Given the description of an element on the screen output the (x, y) to click on. 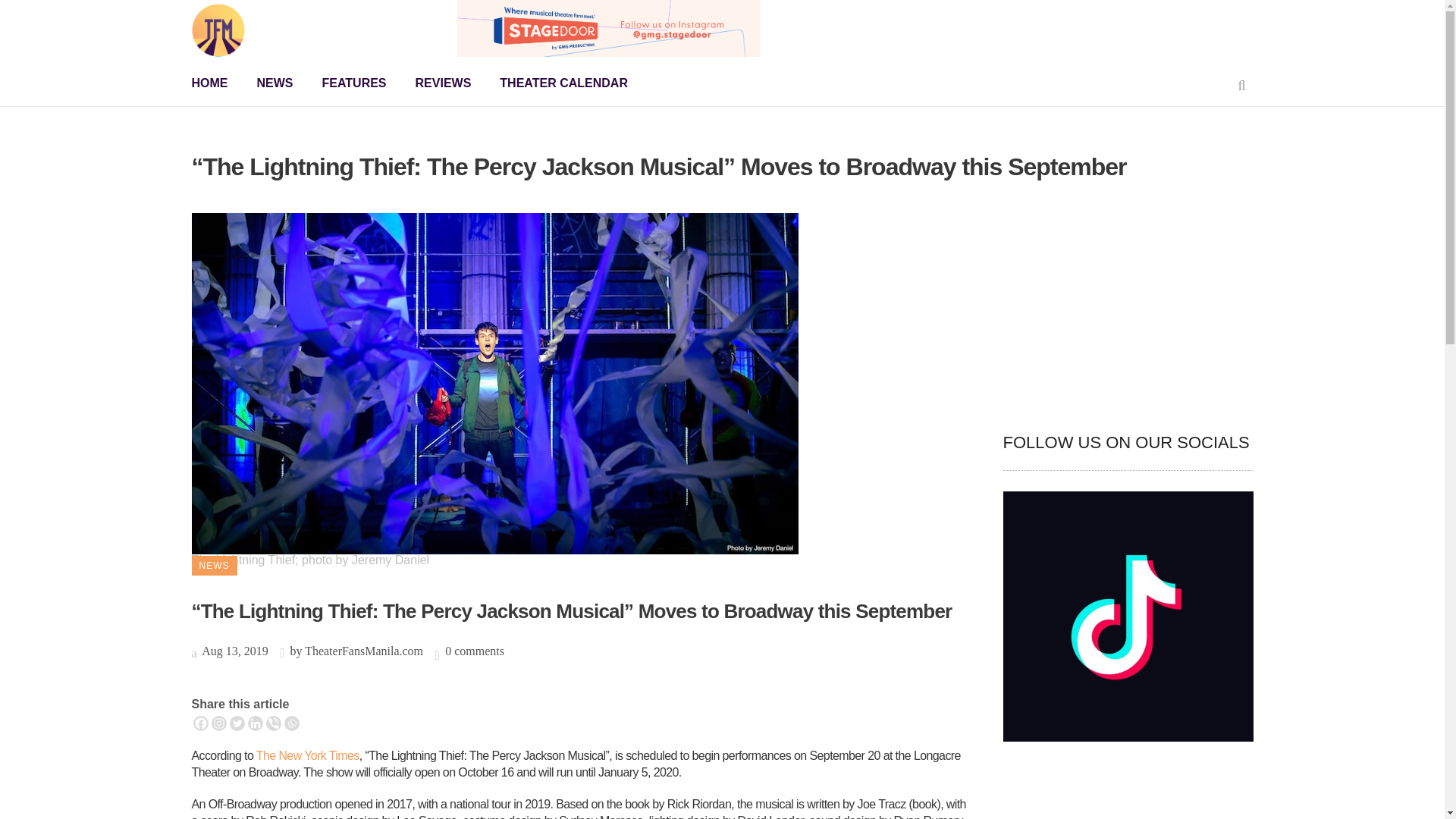
Facebook (200, 723)
The New York Times (307, 755)
THEATER CALENDAR (563, 83)
Twitter (236, 723)
Instagram (218, 723)
Viber (272, 723)
HOME (215, 83)
0 comments (474, 650)
Advertisement (1127, 307)
FEATURES (354, 83)
Whatsapp (290, 723)
TheaterFansManila.com (363, 650)
Aug 13, 2019 (228, 650)
REVIEWS (443, 83)
NEWS (275, 83)
